Given the description of an element on the screen output the (x, y) to click on. 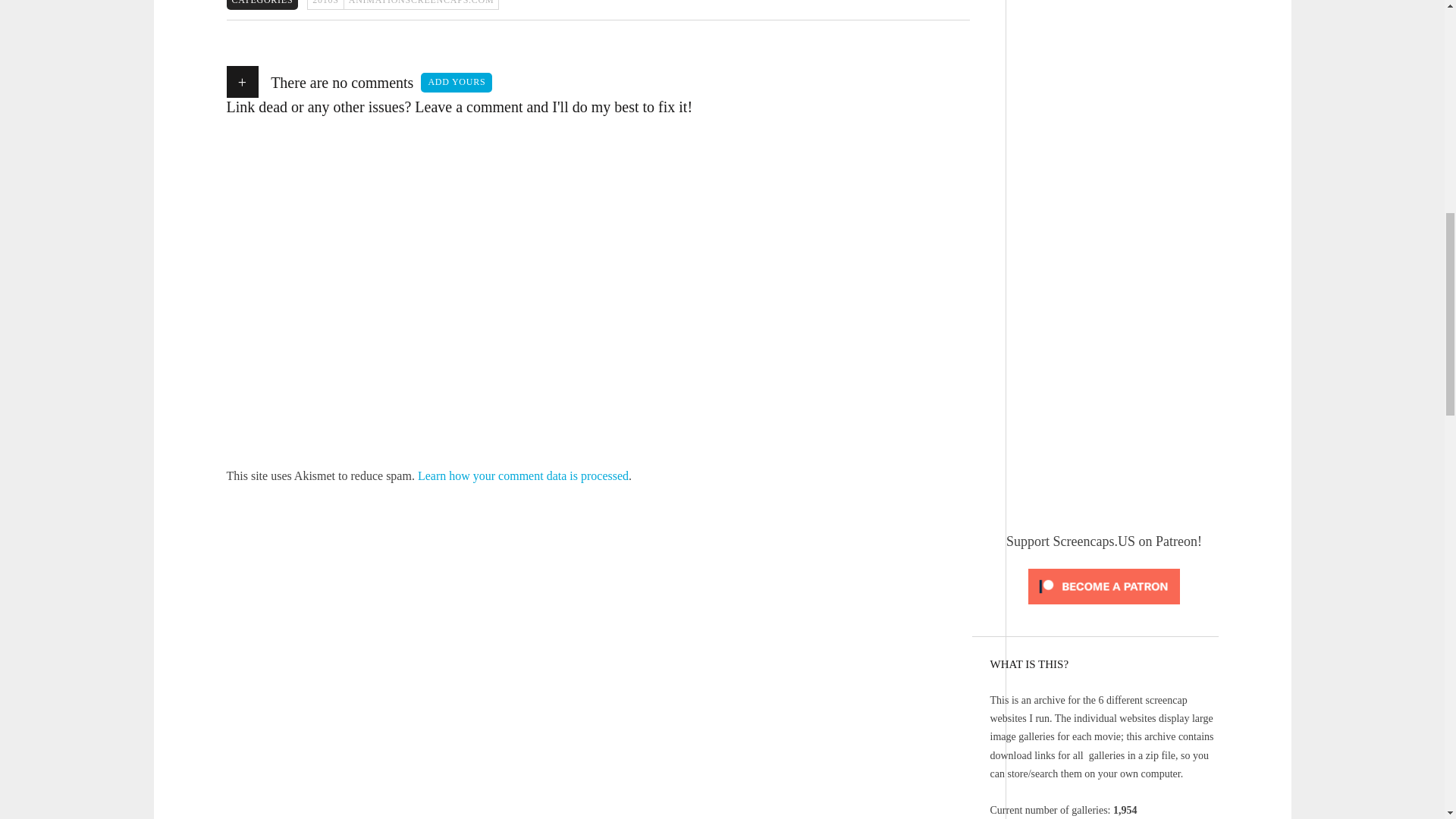
View all posts in 2010s (324, 4)
View all posts in AnimationScreencaps.com (421, 4)
